Given the description of an element on the screen output the (x, y) to click on. 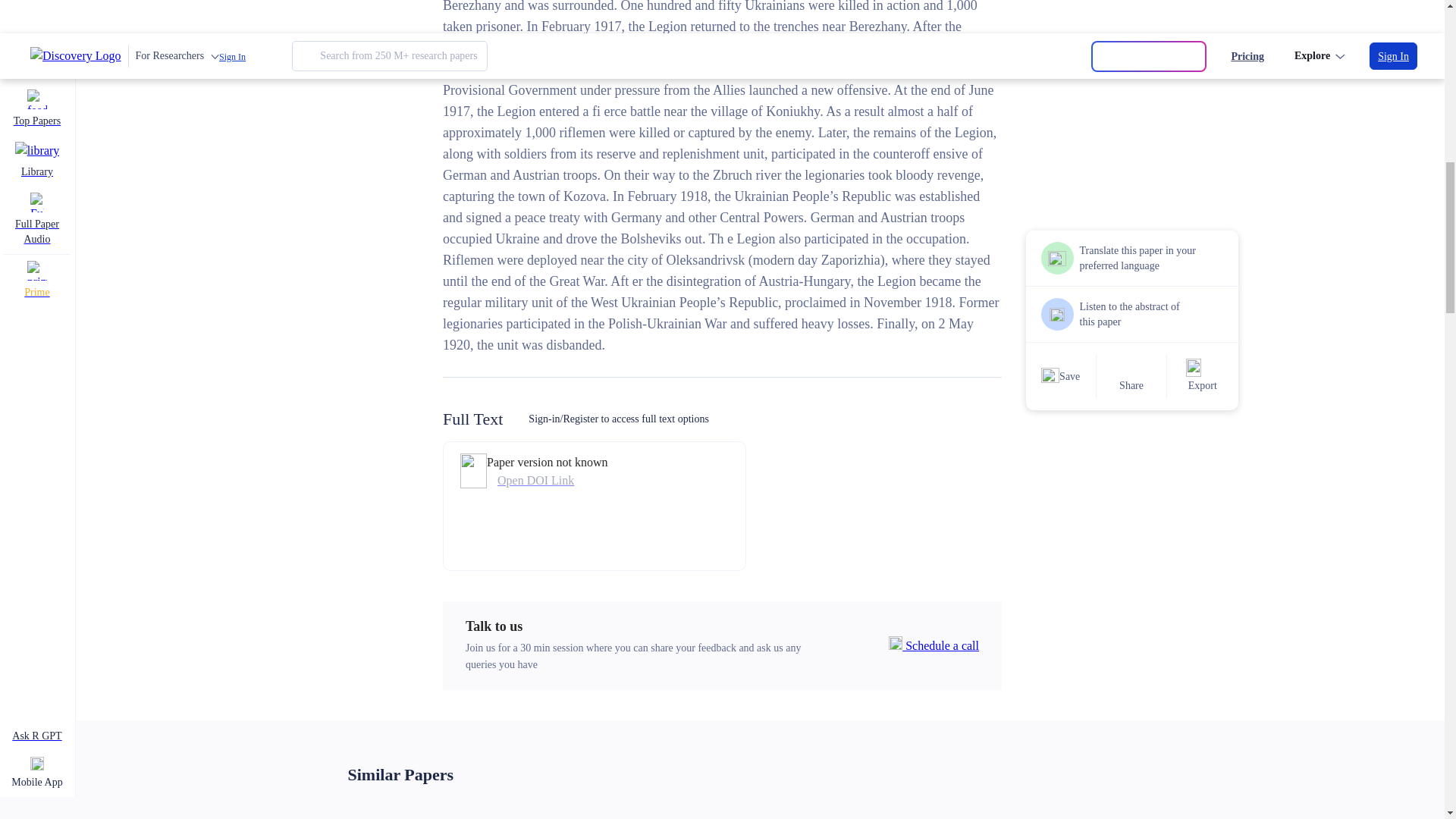
Schedule a call (933, 645)
Open DOI Link (547, 480)
Get Prime (1080, 46)
